Given the description of an element on the screen output the (x, y) to click on. 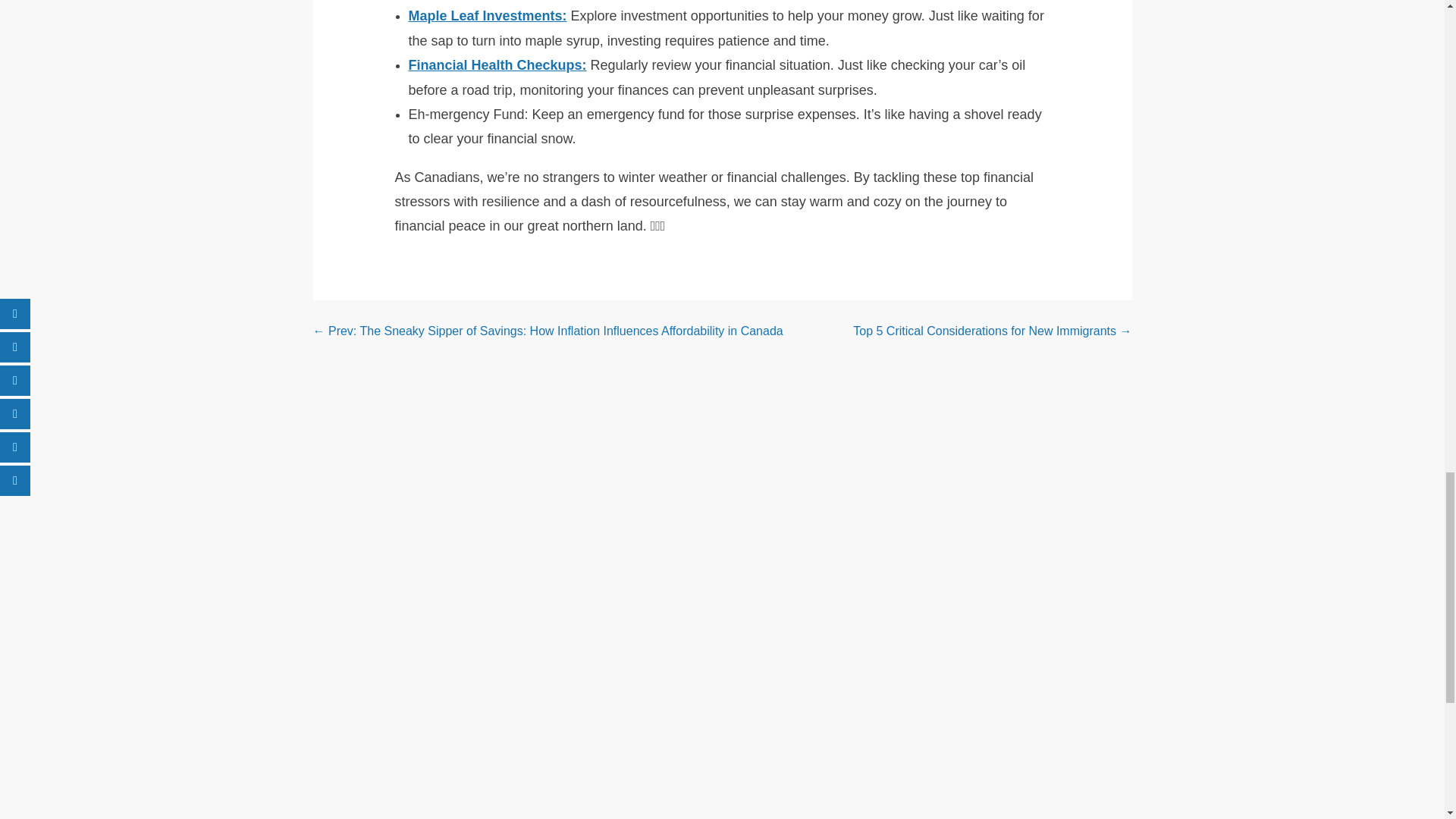
Financial Health Checkups: (496, 64)
Maple Leaf Investments: (486, 15)
